Given the description of an element on the screen output the (x, y) to click on. 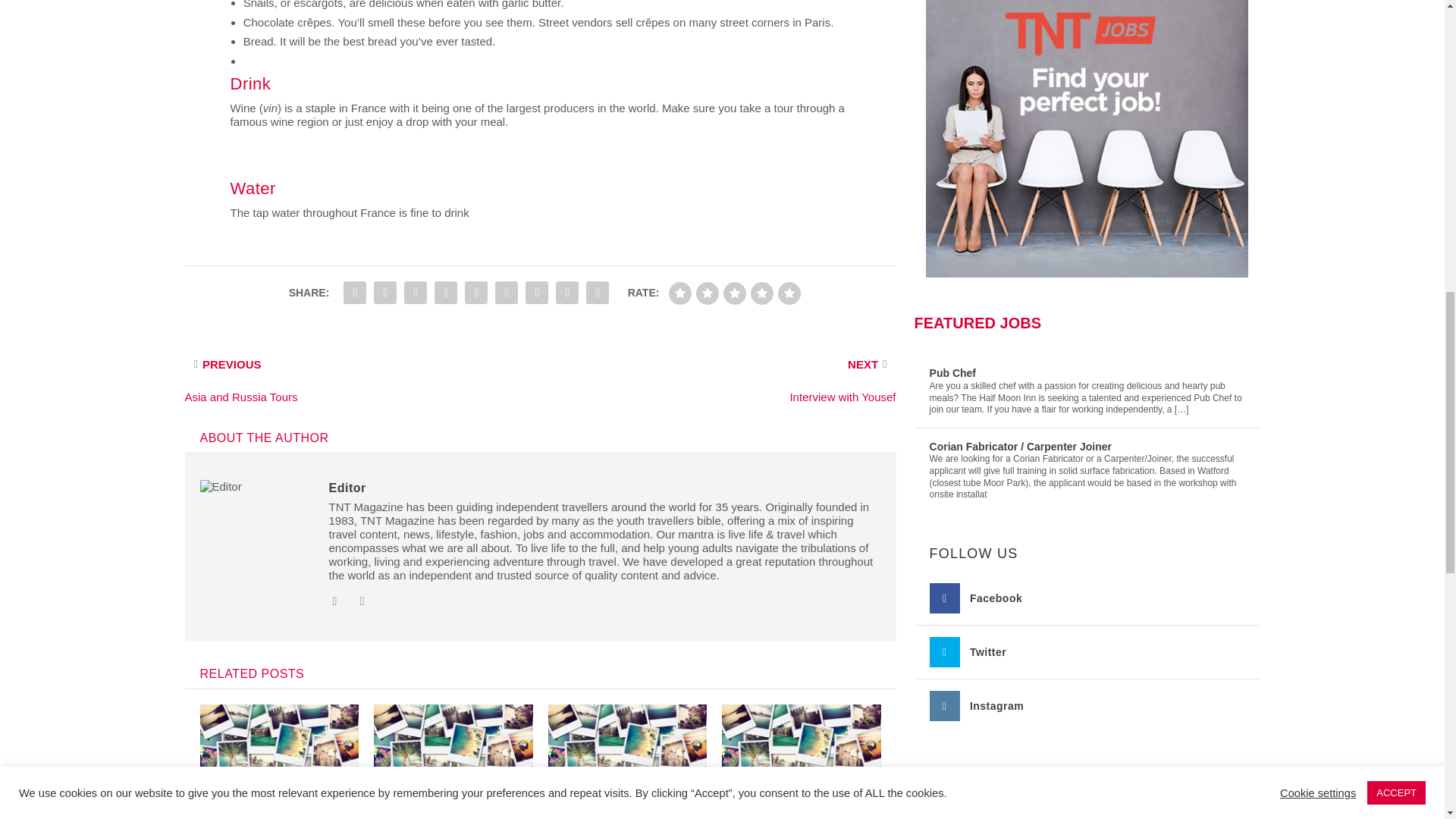
Editor (347, 487)
